Given the description of an element on the screen output the (x, y) to click on. 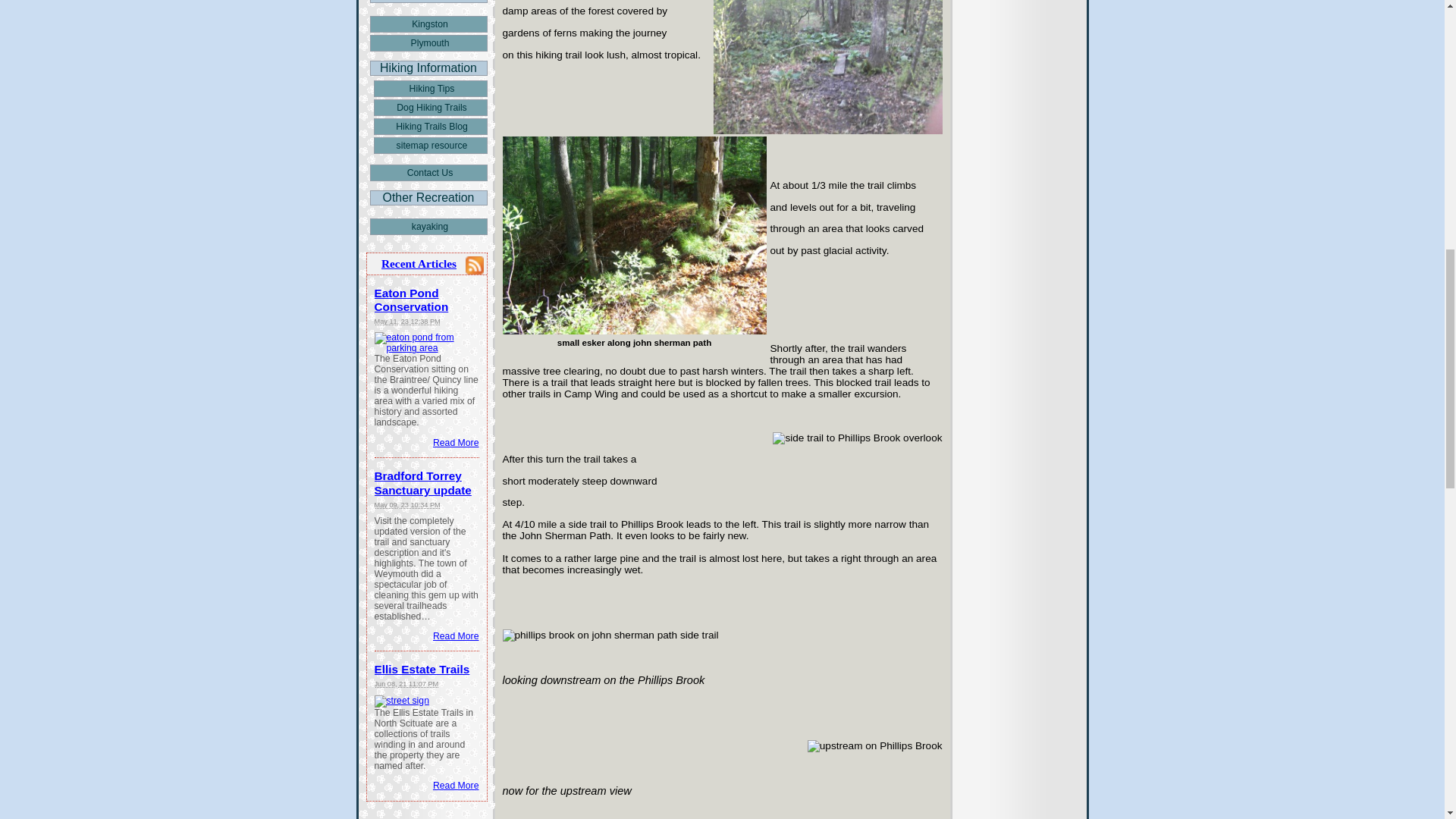
Plymouth (428, 43)
Hiking Trails Blog (429, 126)
Hiking Tips (429, 88)
2021-06-08T23:07:00-0400 (406, 683)
Kingston (428, 23)
2023-05-09T22:34:03-0400 (407, 503)
damp area on john sherman path (827, 67)
sitemap resource (429, 145)
phillips brook on john sherman path side trail (609, 635)
upstream on Phillips Brook (875, 746)
Recent Articles (419, 263)
2023-05-11T12:38:09-0400 (407, 321)
kayaking (428, 226)
Contact Us (428, 172)
side trail to Phillips Brook overlook (857, 438)
